Given the description of an element on the screen output the (x, y) to click on. 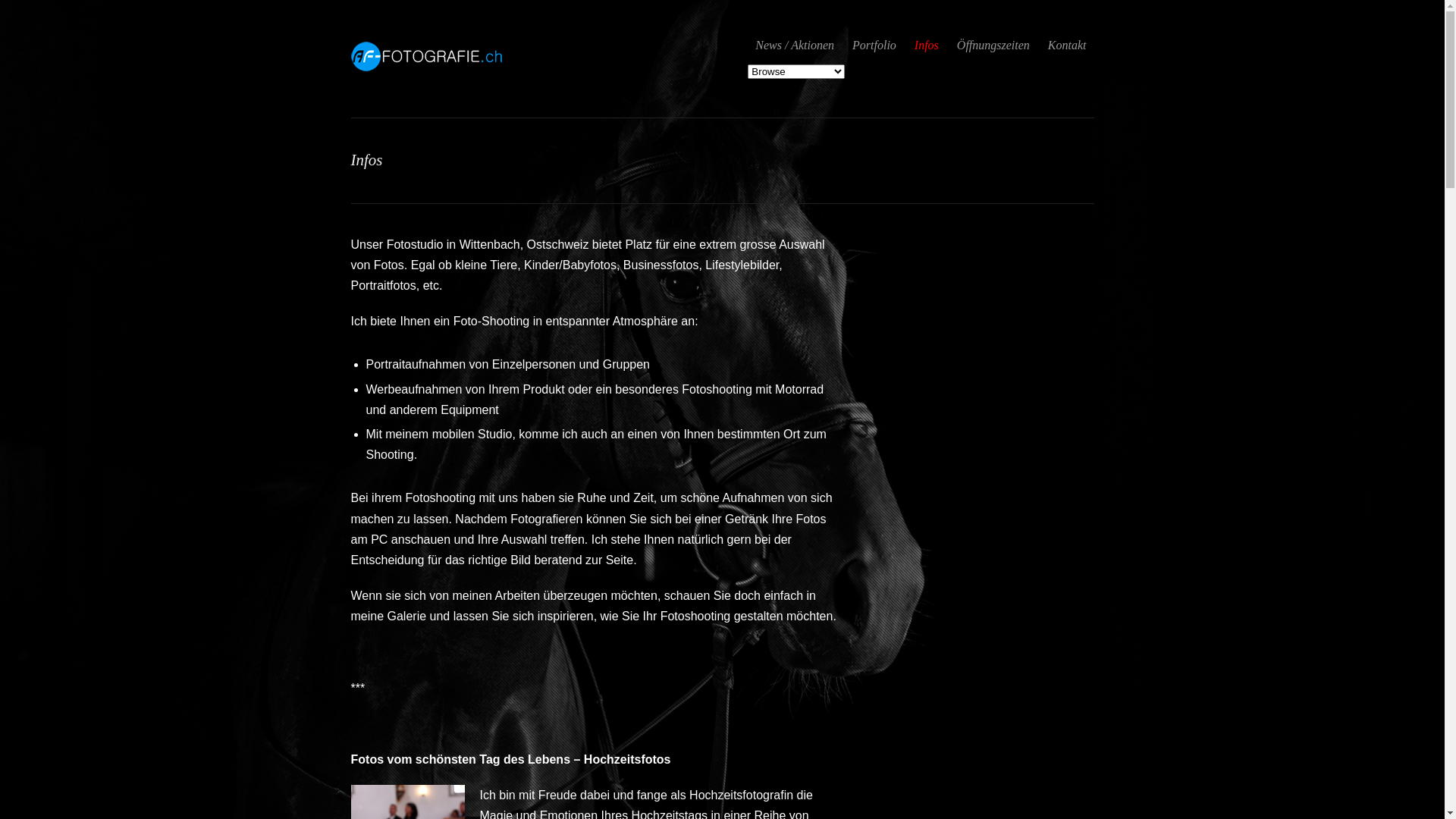
Infos Element type: text (926, 45)
News / Aktionen Element type: text (794, 45)
Portfolio Element type: text (873, 45)
Kontakt Element type: text (1067, 45)
